Given the description of an element on the screen output the (x, y) to click on. 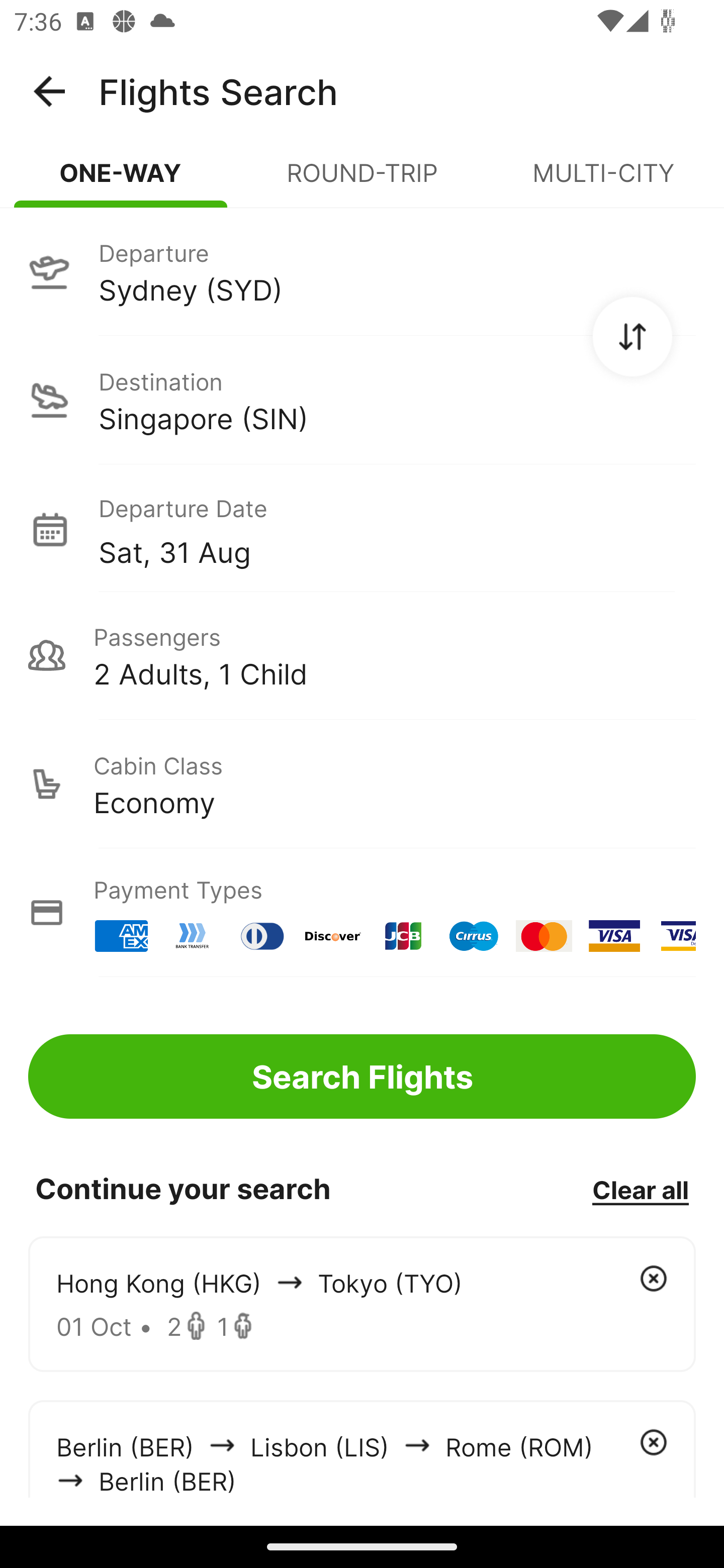
ONE-WAY (120, 180)
ROUND-TRIP (361, 180)
MULTI-CITY (603, 180)
Departure Sydney (SYD) (362, 270)
Destination Singapore (SIN) (362, 400)
Departure Date Sat, 31 Aug (396, 528)
Passengers 2 Adults, 1 Child (362, 655)
Cabin Class Economy (362, 783)
Payment Types (362, 912)
Search Flights (361, 1075)
Clear all (640, 1189)
